Given the description of an element on the screen output the (x, y) to click on. 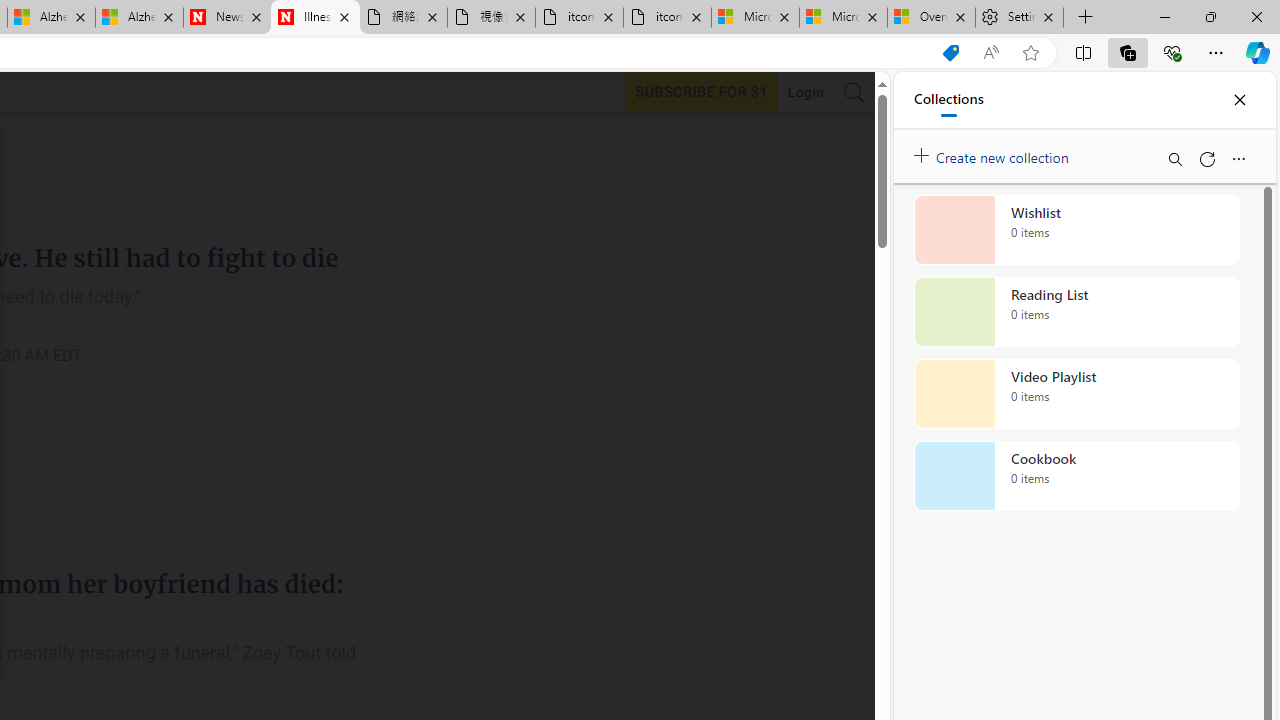
Overview (931, 17)
More options menu (1238, 158)
itconcepthk.com/projector_solutions.mp4 (666, 17)
Newsweek - News, Analysis, Politics, Business, Technology (227, 17)
